Given the description of an element on the screen output the (x, y) to click on. 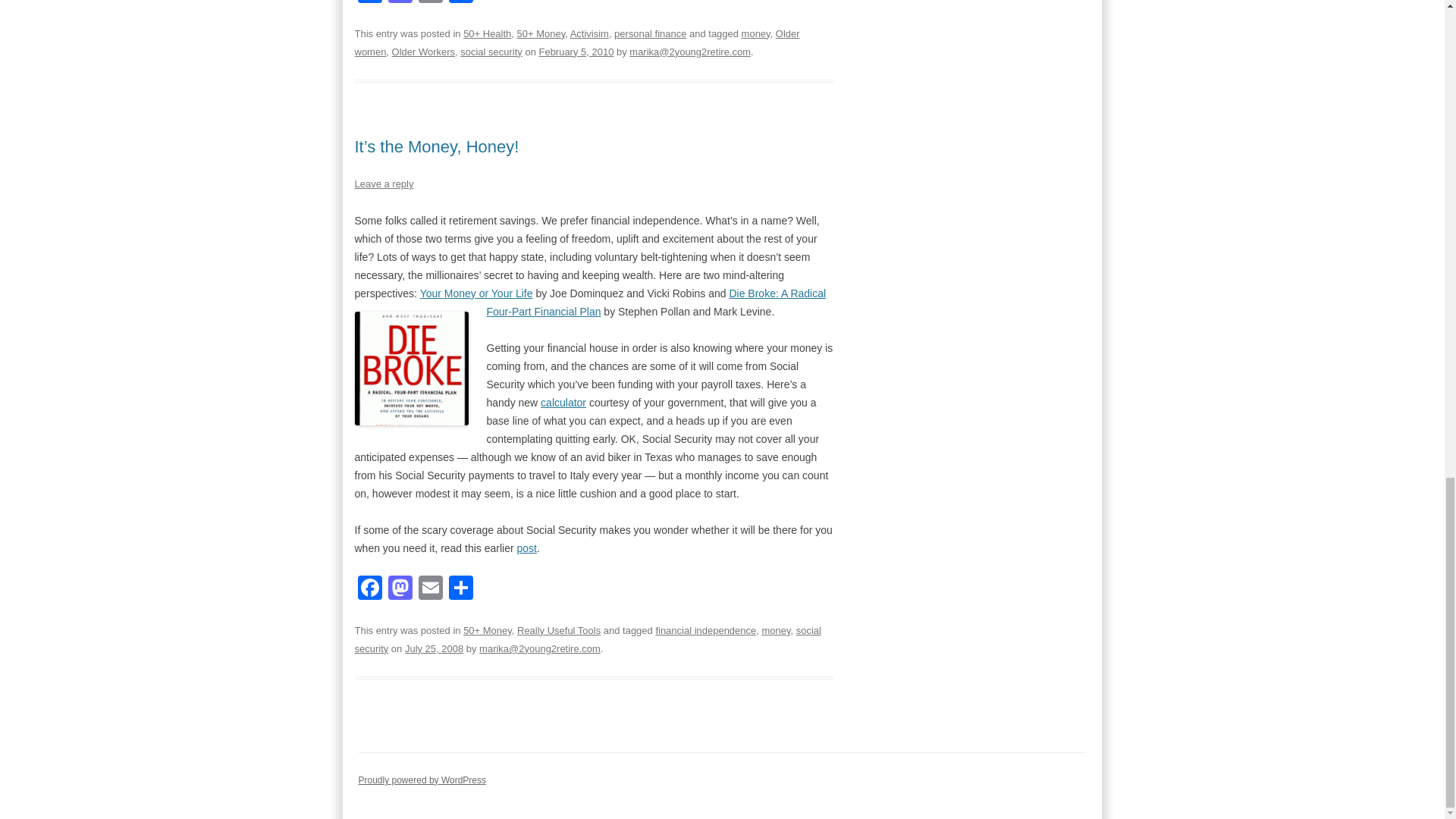
Die Broke: A Radical Four-Part Financial Plan (656, 302)
Older women (577, 42)
Your Money or Your Life (476, 293)
Really Useful Tools (557, 630)
8:26 am (575, 51)
personal finance (649, 33)
Leave a reply (384, 183)
7:20 am (433, 648)
post (526, 548)
Mastodon (399, 3)
